Given the description of an element on the screen output the (x, y) to click on. 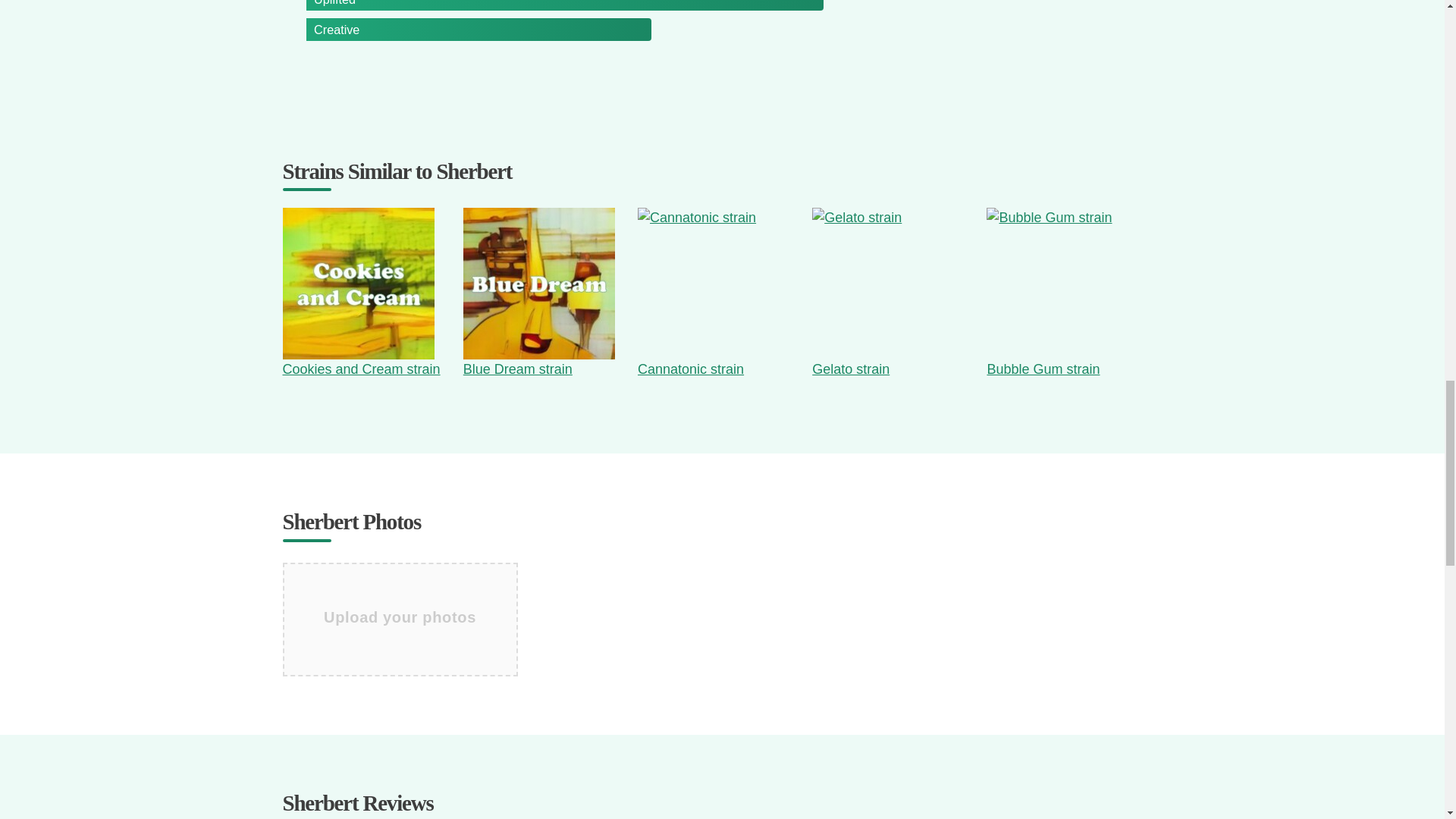
Bubble Gum strain (1043, 368)
Cookies and Cream strain (360, 368)
Bubble Gum strain (1043, 368)
Blue Dream (538, 283)
Blue Dream strain (517, 368)
Cannatonic strain (690, 368)
Bubble Gum (1062, 283)
Gelato (887, 283)
Upload your photos (399, 608)
Cannatonic (713, 283)
